Given the description of an element on the screen output the (x, y) to click on. 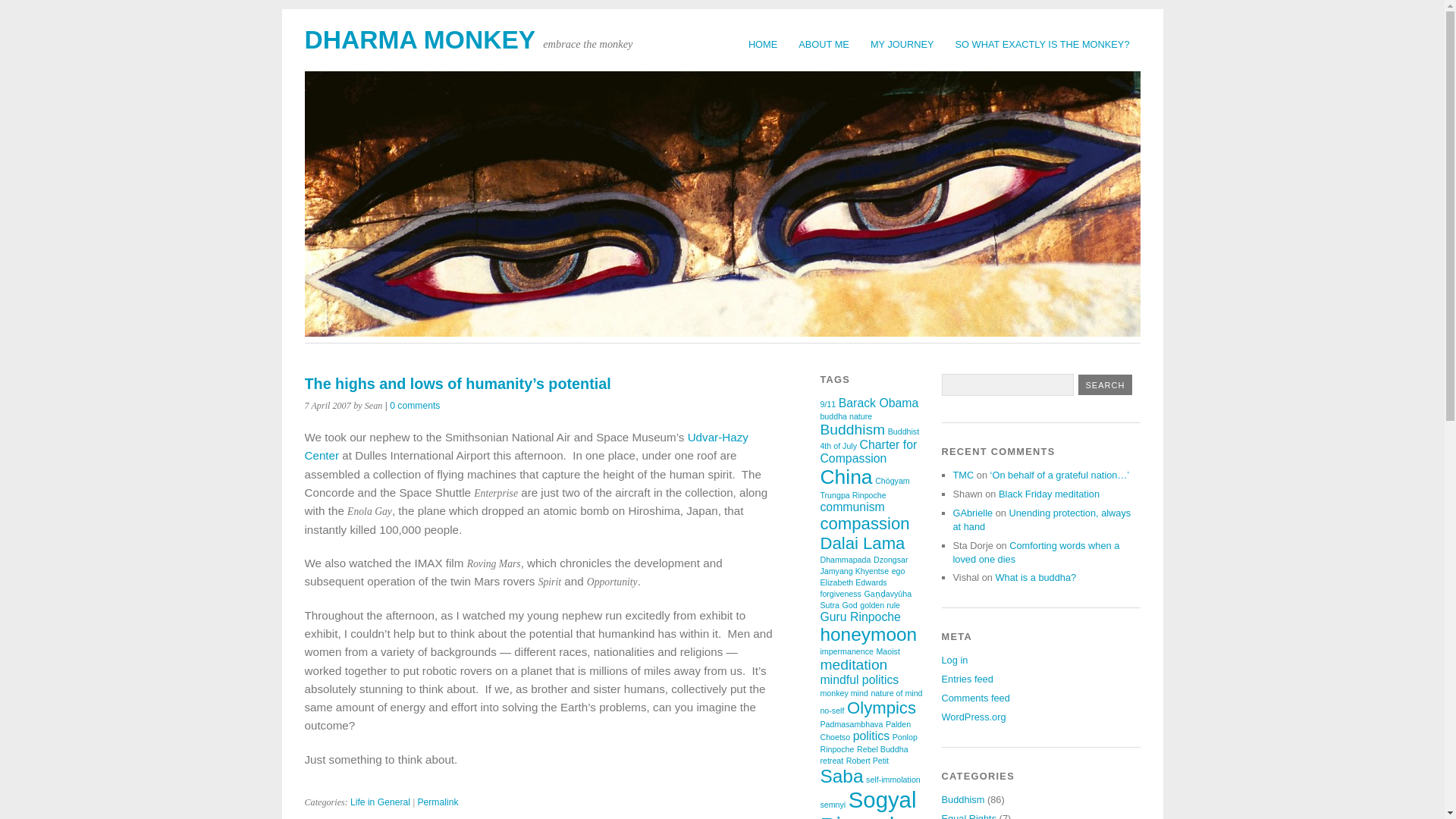
Udvar-Hazy Center (526, 445)
Dhammapada (844, 559)
China (845, 477)
Search (1105, 384)
buddha nature (845, 415)
Buddhism (852, 429)
monkey mind (843, 692)
communism (851, 506)
Dalai Lama (861, 542)
God (849, 604)
Permalink (437, 801)
Buddhist 4th of July (868, 438)
Maoist (887, 651)
Dzongsar Jamyang Khyentse (863, 565)
ABOUT ME (823, 43)
